Given the description of an element on the screen output the (x, y) to click on. 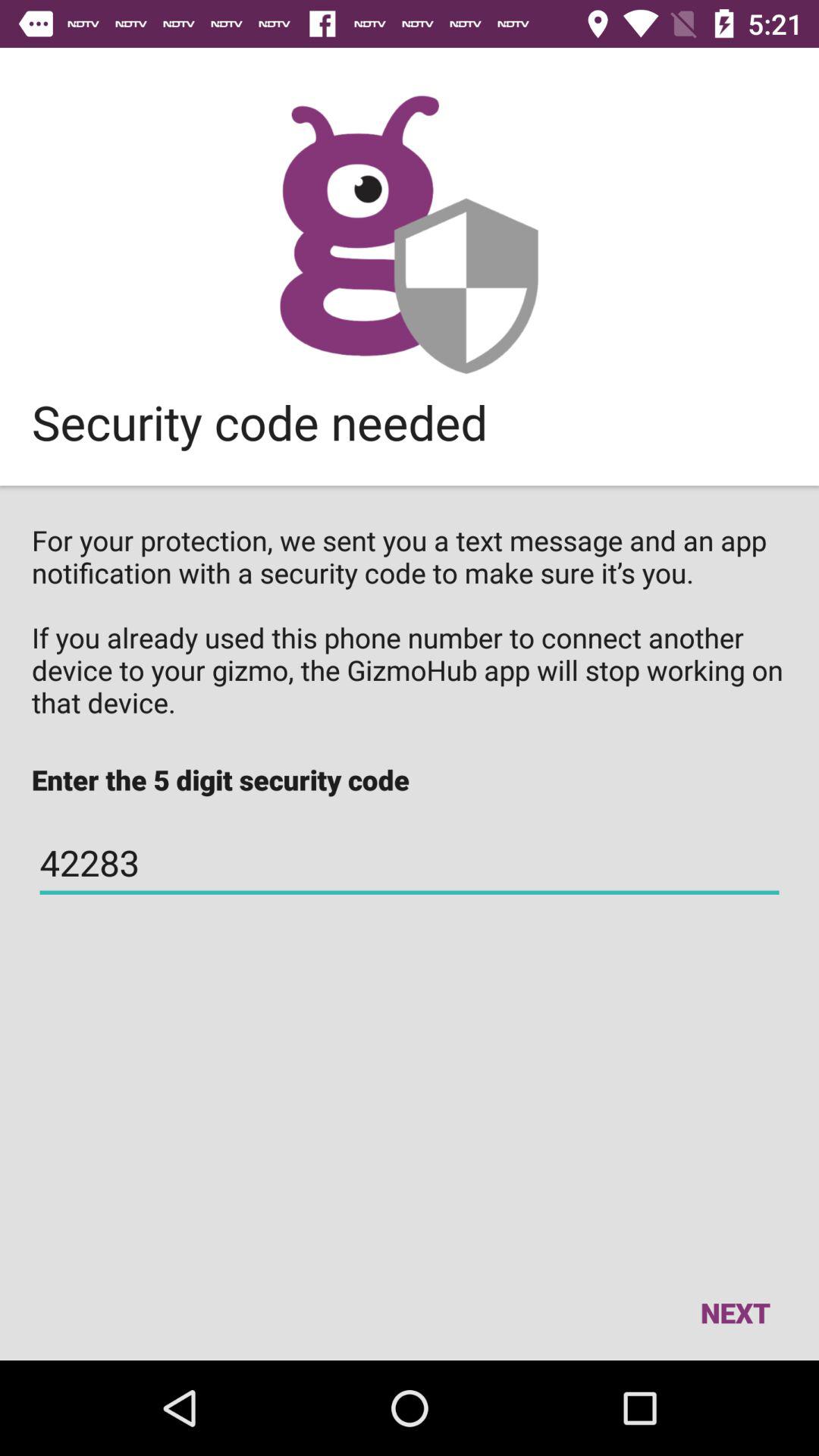
swipe to 42283 item (409, 863)
